Given the description of an element on the screen output the (x, y) to click on. 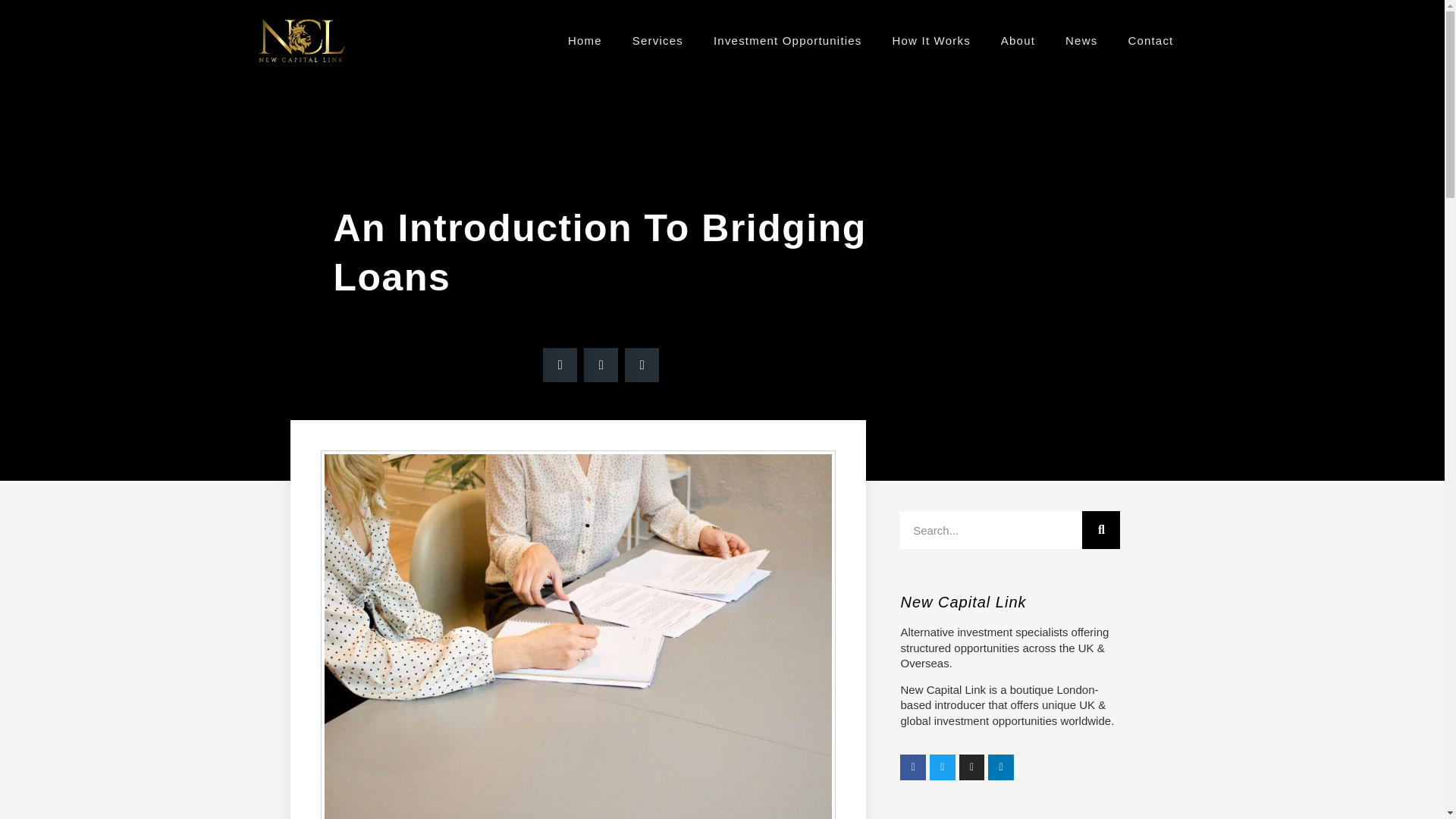
News (1080, 40)
Home (585, 40)
Contact (1150, 40)
Services (657, 40)
About (1017, 40)
How It Works (931, 40)
Investment Opportunities (787, 40)
